Given the description of an element on the screen output the (x, y) to click on. 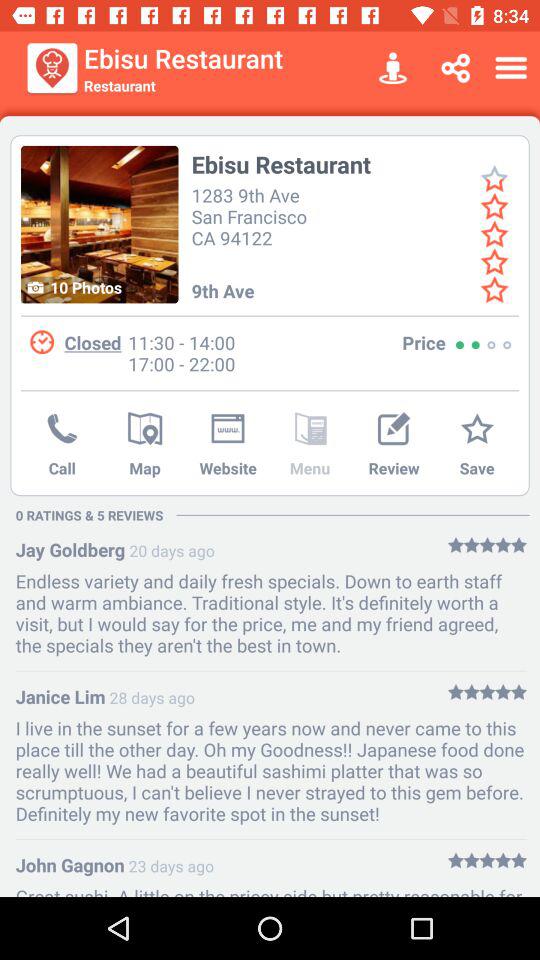
flip until 1283 9th ave (251, 214)
